Given the description of an element on the screen output the (x, y) to click on. 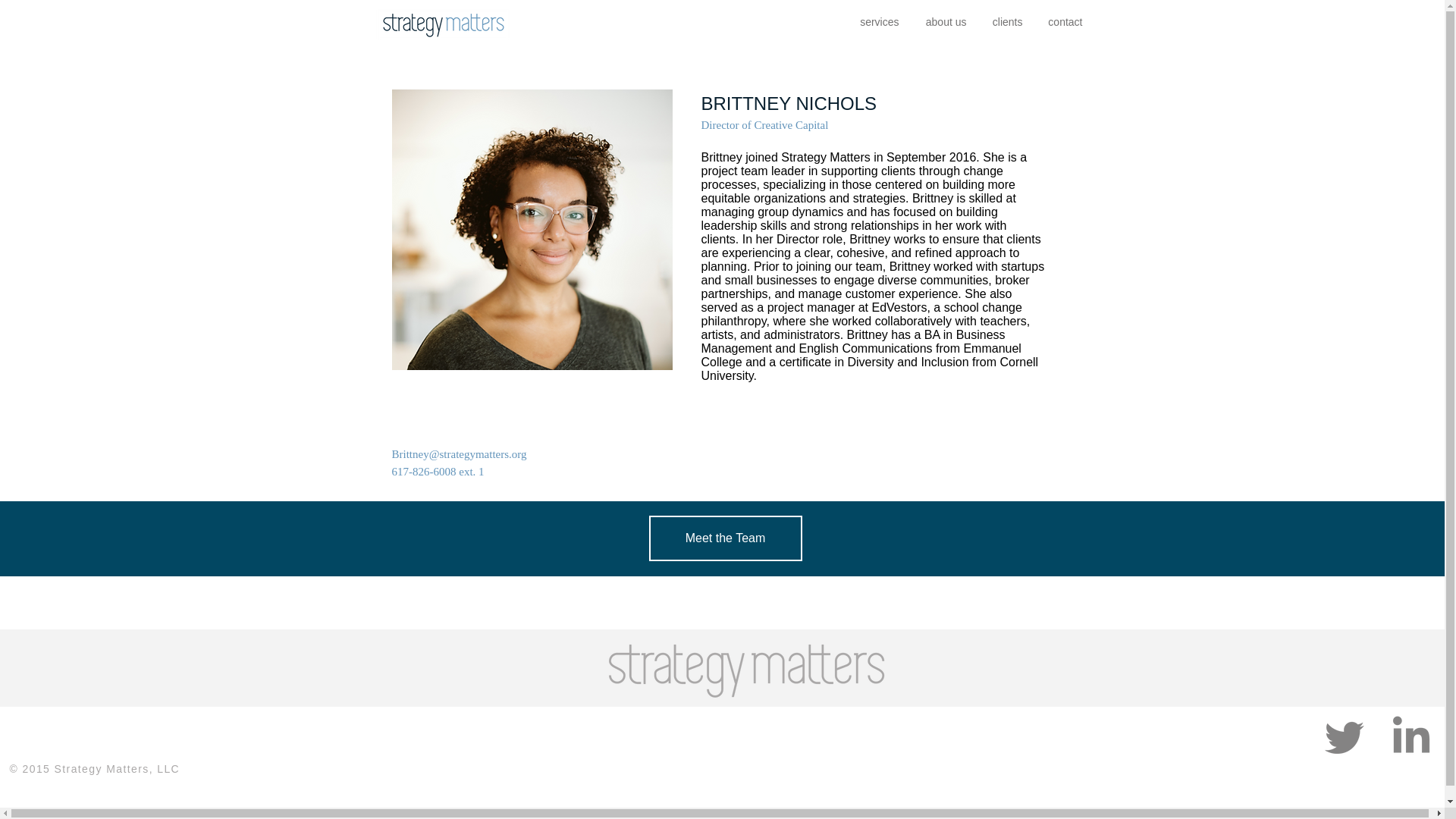
services (877, 22)
contact (1063, 22)
Meet the Team (725, 538)
about us (943, 22)
clients (1005, 22)
